Given the description of an element on the screen output the (x, y) to click on. 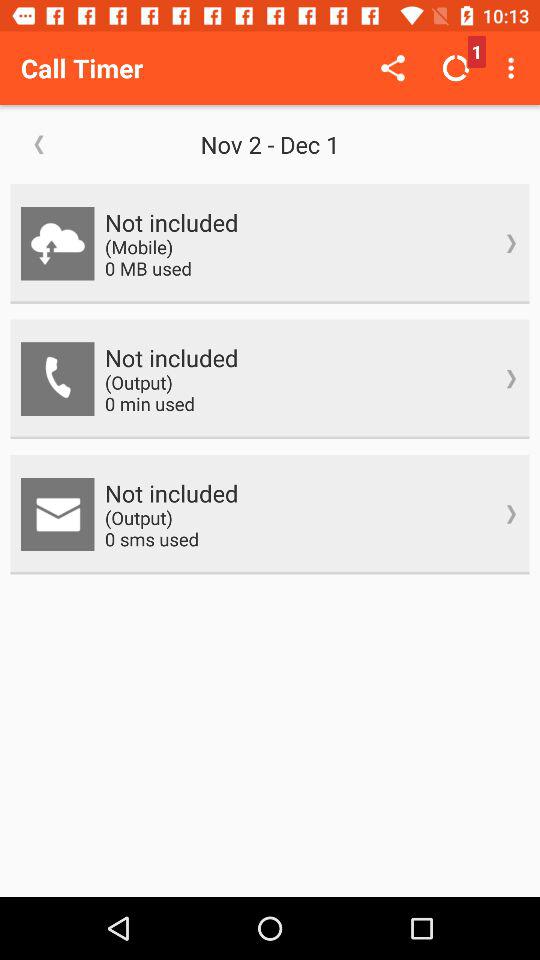
click the icon to the right of the 1 item (513, 67)
